Given the description of an element on the screen output the (x, y) to click on. 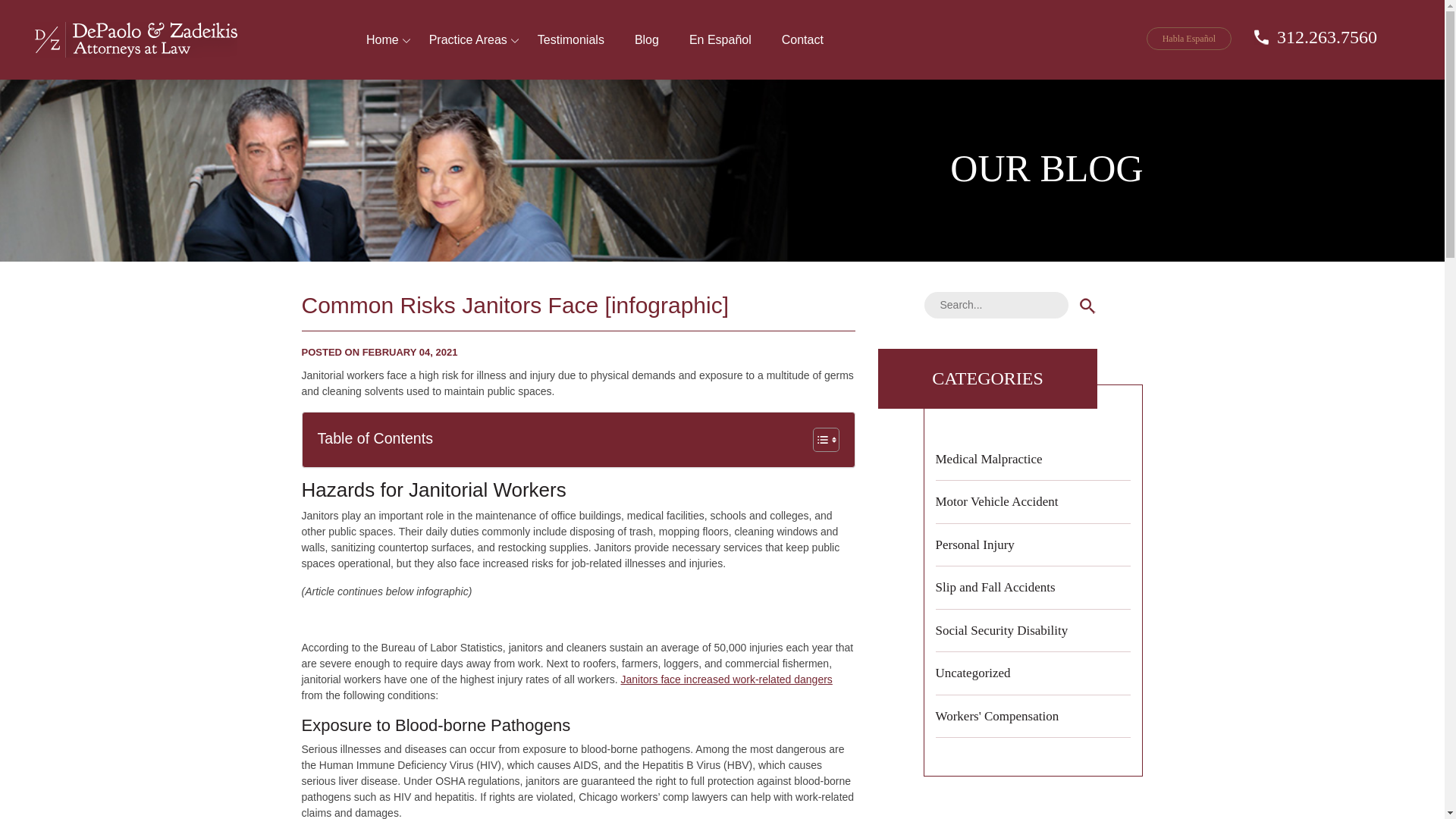
Contact (802, 50)
312.263.7560 (1315, 36)
Practice Areas (467, 50)
Testimonials (571, 50)
Blog (647, 50)
Home (381, 50)
